Given the description of an element on the screen output the (x, y) to click on. 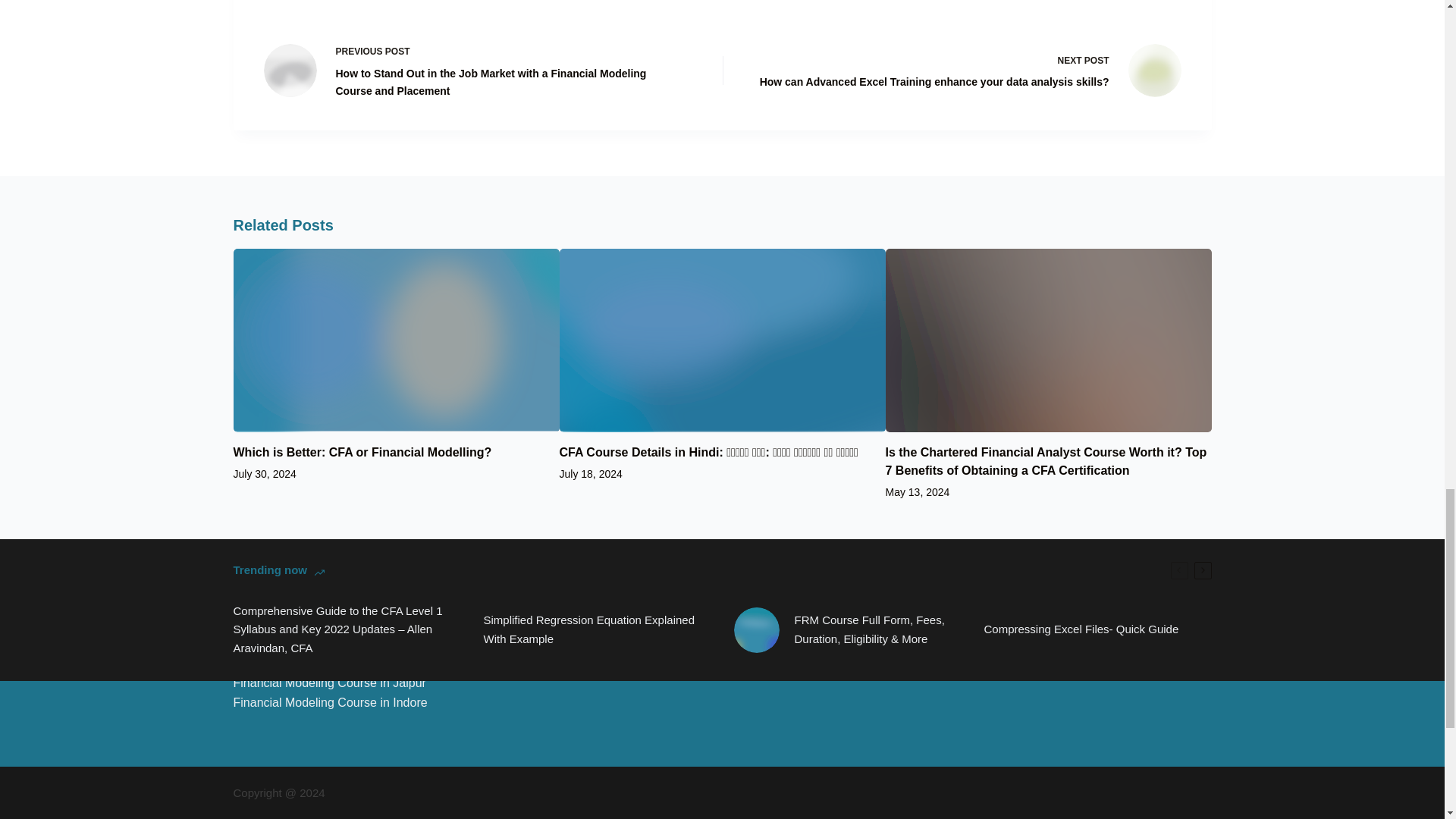
Which is Better: CFA or Financial Modelling? (362, 451)
Simplified Regression Equation Explained With Example (597, 629)
Compressing Excel Files- Quick Guide (1081, 629)
